Given the description of an element on the screen output the (x, y) to click on. 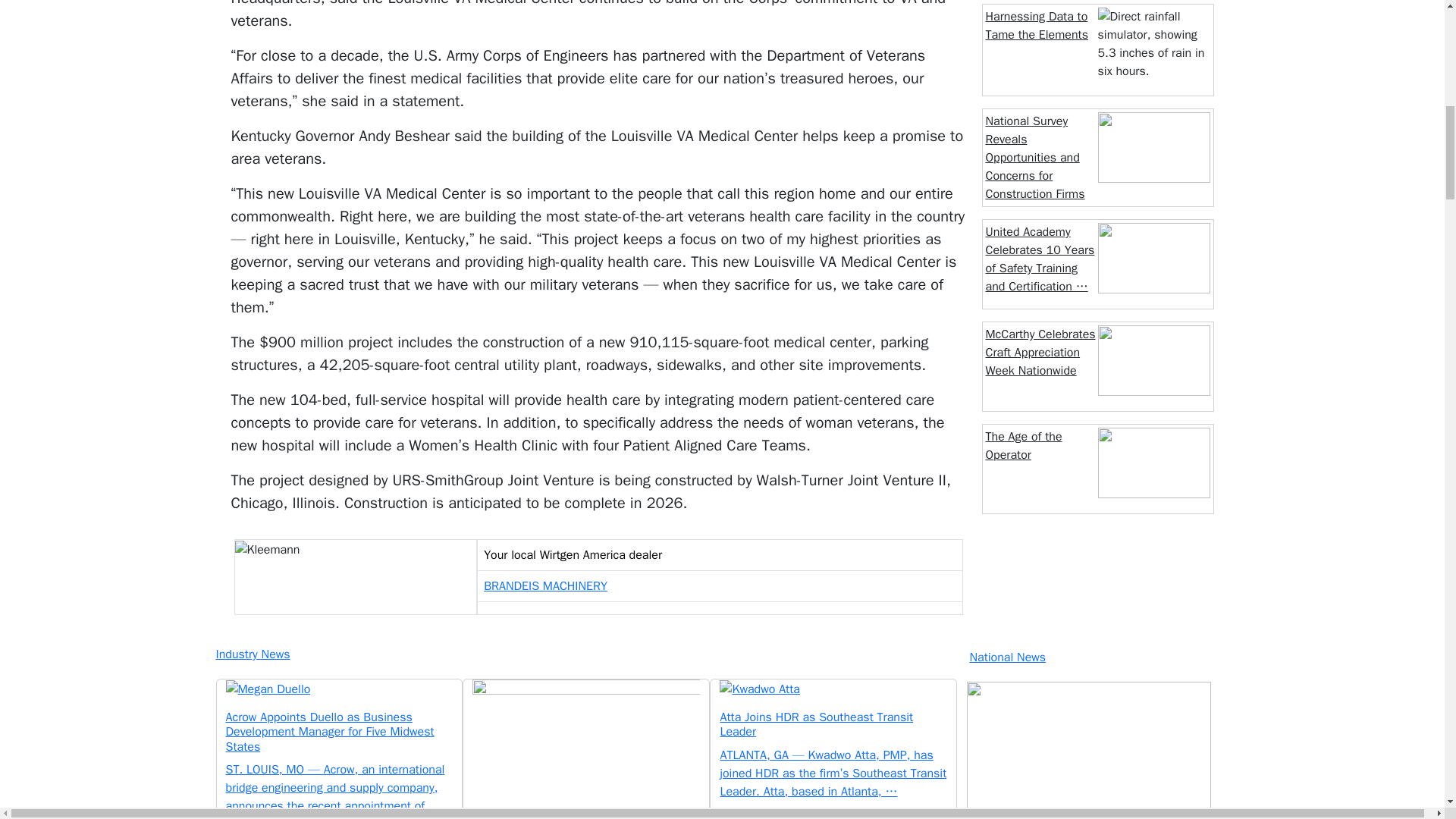
Industry News (584, 654)
Harnessing Data to Tame the Elements (1037, 25)
The Age of the Operator (1023, 445)
McCarthy Celebrates Craft Appreciation Week Nationwide (1040, 352)
BRANDEIS MACHINERY (545, 585)
